Given the description of an element on the screen output the (x, y) to click on. 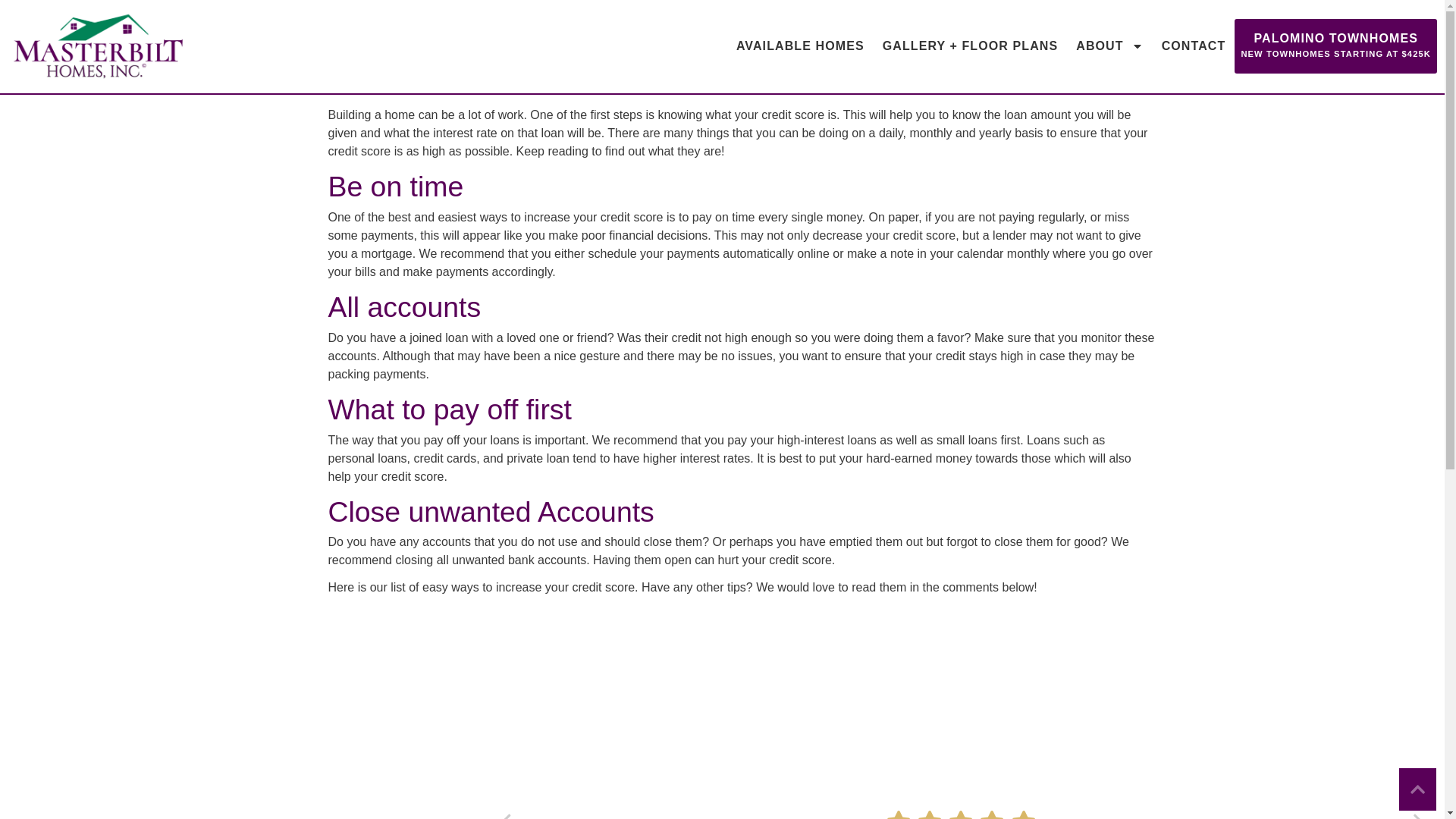
CONTACT (1193, 45)
AVAILABLE HOMES (800, 45)
ABOUT (1108, 45)
